Given the description of an element on the screen output the (x, y) to click on. 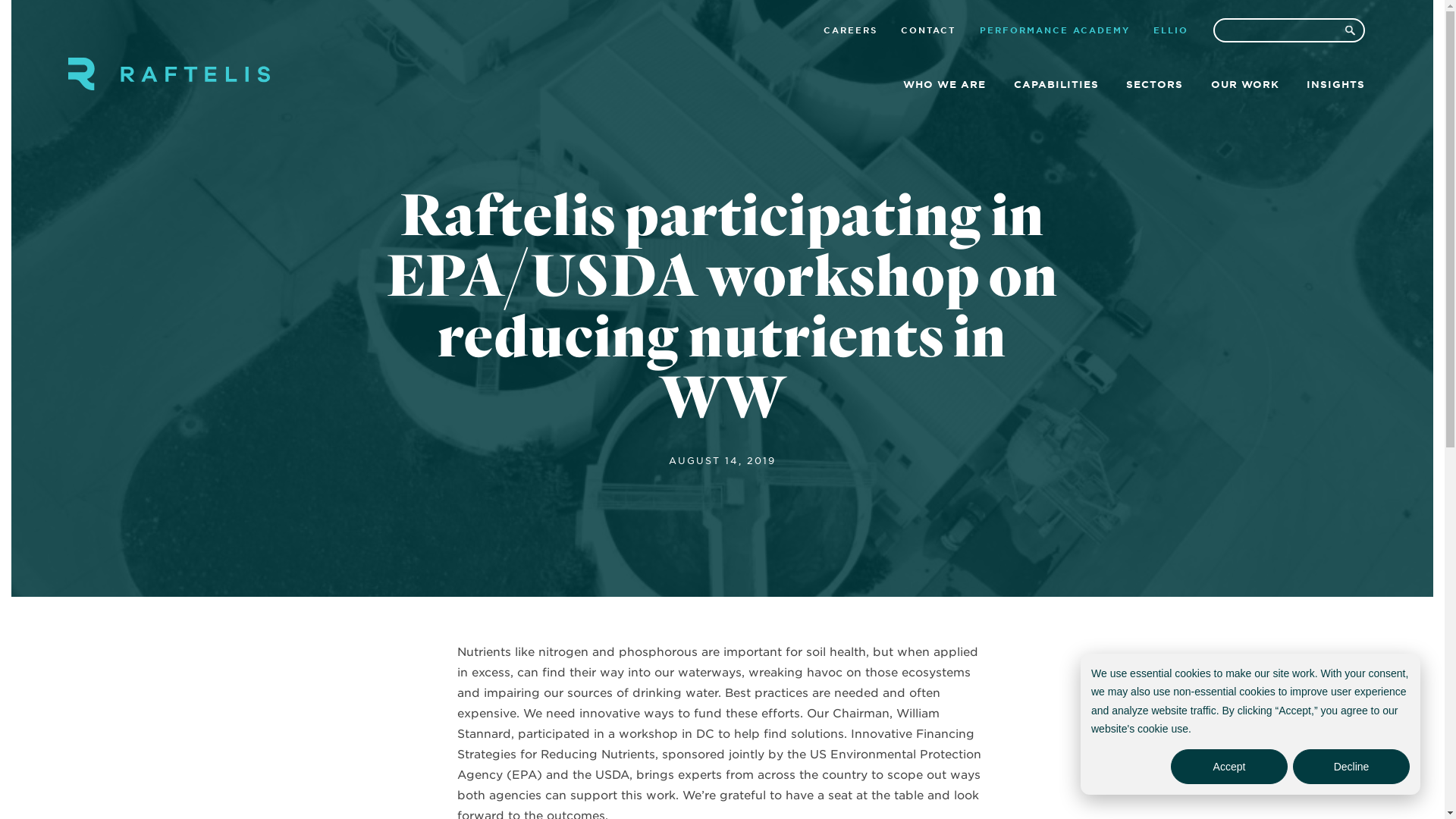
CONTACT (928, 32)
CAREERS (850, 32)
OUR WORK (1243, 86)
WHO WE ARE (943, 86)
Search (1349, 30)
INSIGHTS (1335, 86)
PERFORMANCE ACADEMY (1054, 32)
ELLIO (1170, 32)
SECTORS (1153, 86)
CAPABILITIES (1055, 86)
